Given the description of an element on the screen output the (x, y) to click on. 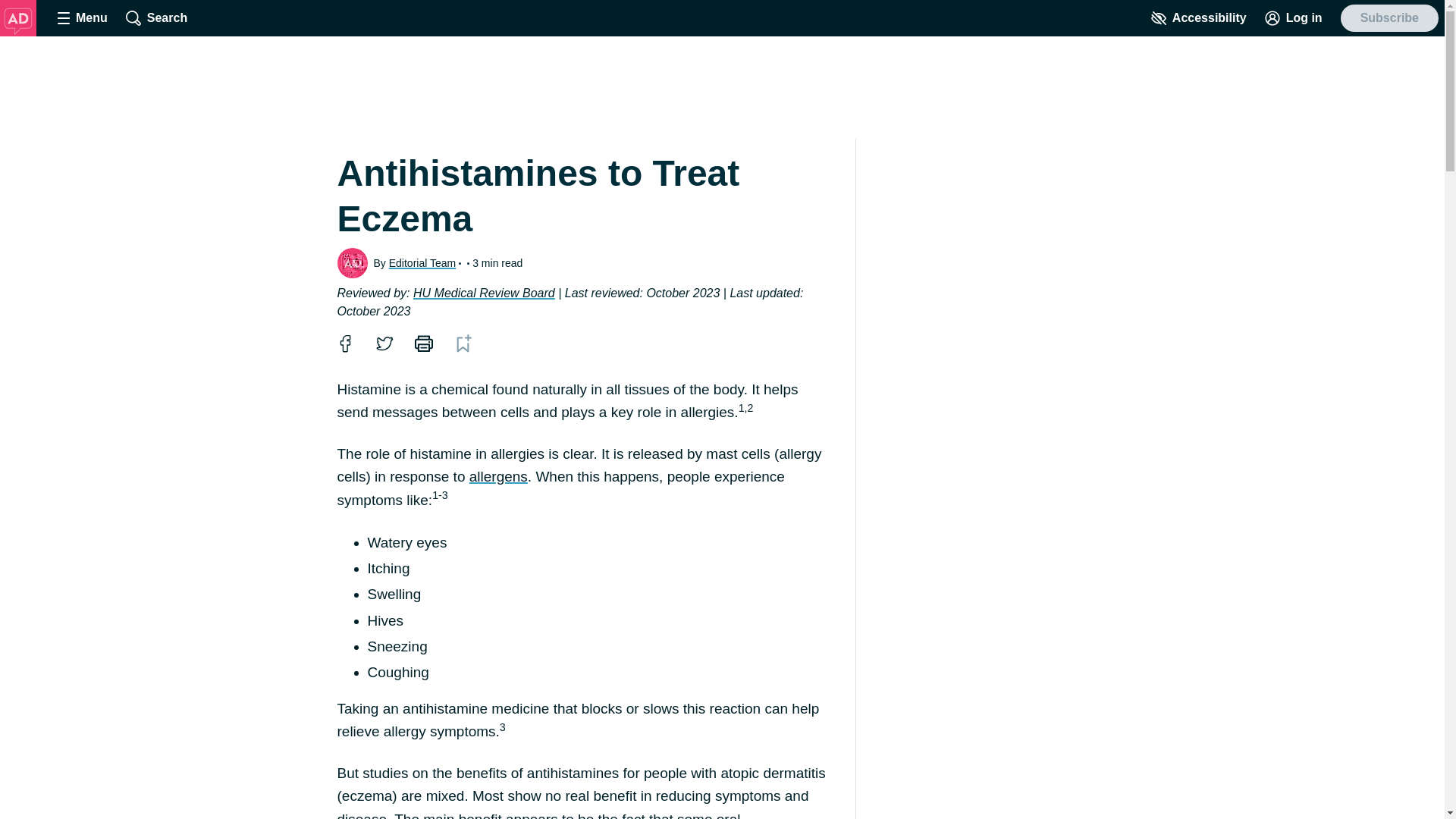
Share to Facebook (343, 343)
Log in (1293, 18)
print page (422, 343)
HU Medical Review Board (483, 292)
Bookmark for later (461, 343)
Editorial Team (421, 262)
Search (156, 18)
print page (422, 343)
Bookmark for later (462, 343)
allergens (497, 476)
